Given the description of an element on the screen output the (x, y) to click on. 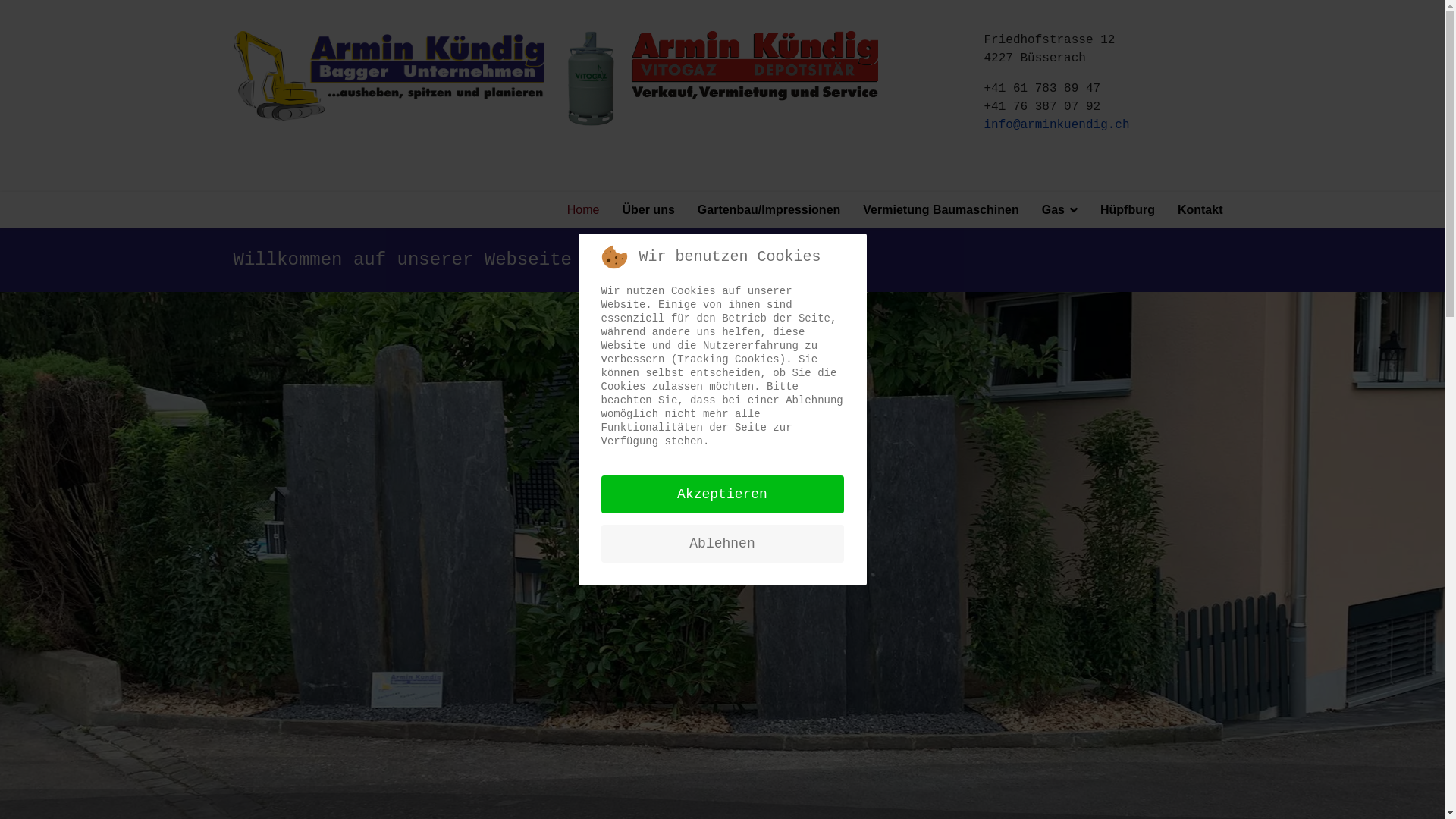
Vermietung Baumaschinen Element type: text (940, 209)
Kontakt Element type: text (1194, 209)
Gartenbau/Impressionen Element type: text (769, 209)
info@arminkuendig.ch Element type: text (1056, 124)
Ablehnen Element type: text (721, 543)
Akzeptieren Element type: text (721, 494)
Gas Element type: text (1059, 209)
Home Element type: text (583, 209)
